Given the description of an element on the screen output the (x, y) to click on. 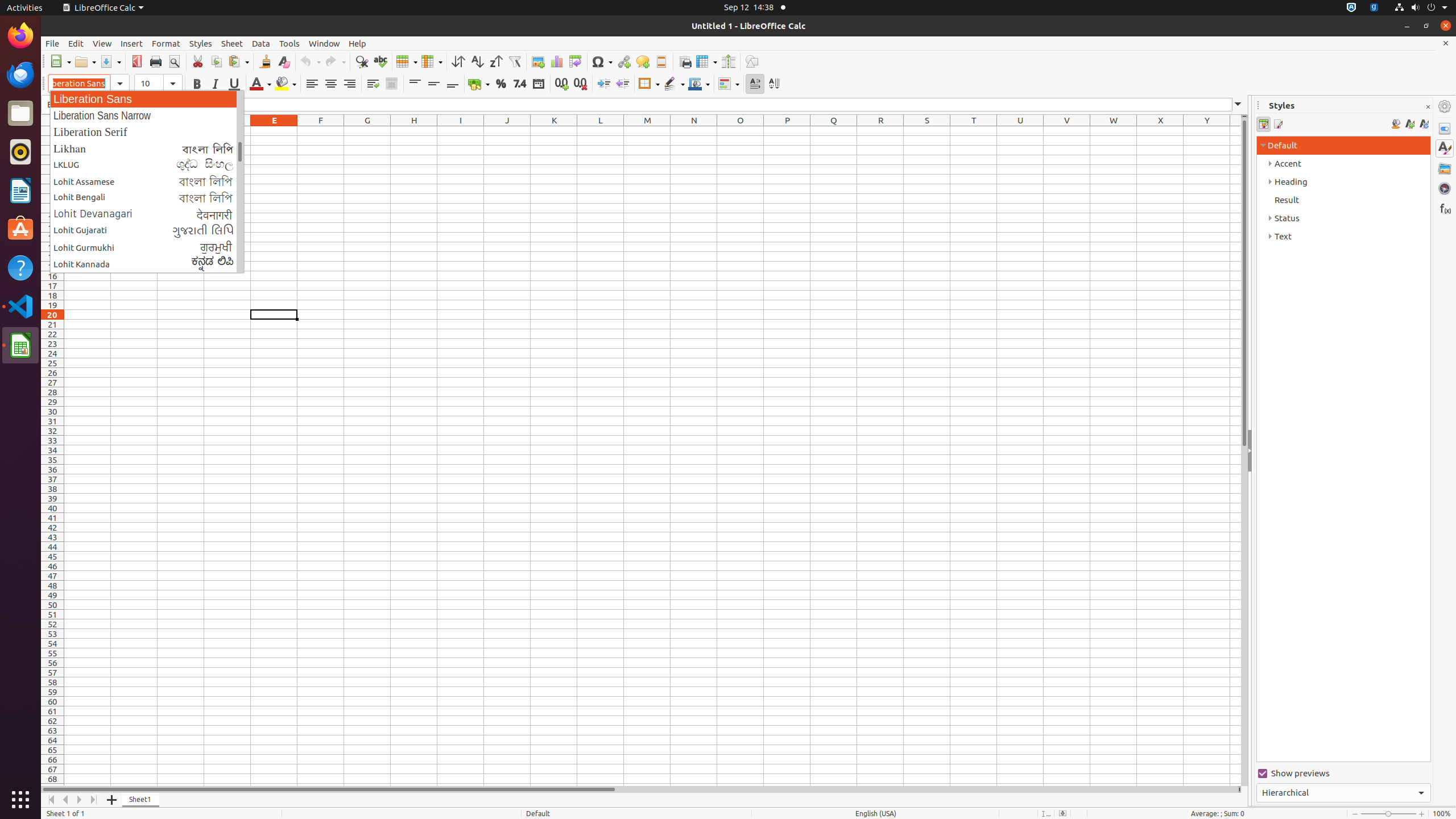
Lohit Devanagari Element type: list-item (146, 213)
Background Color Element type: push-button (285, 83)
Headers and Footers Element type: push-button (660, 61)
Close Sidebar Deck Element type: push-button (1427, 106)
Save Element type: push-button (109, 61)
